Given the description of an element on the screen output the (x, y) to click on. 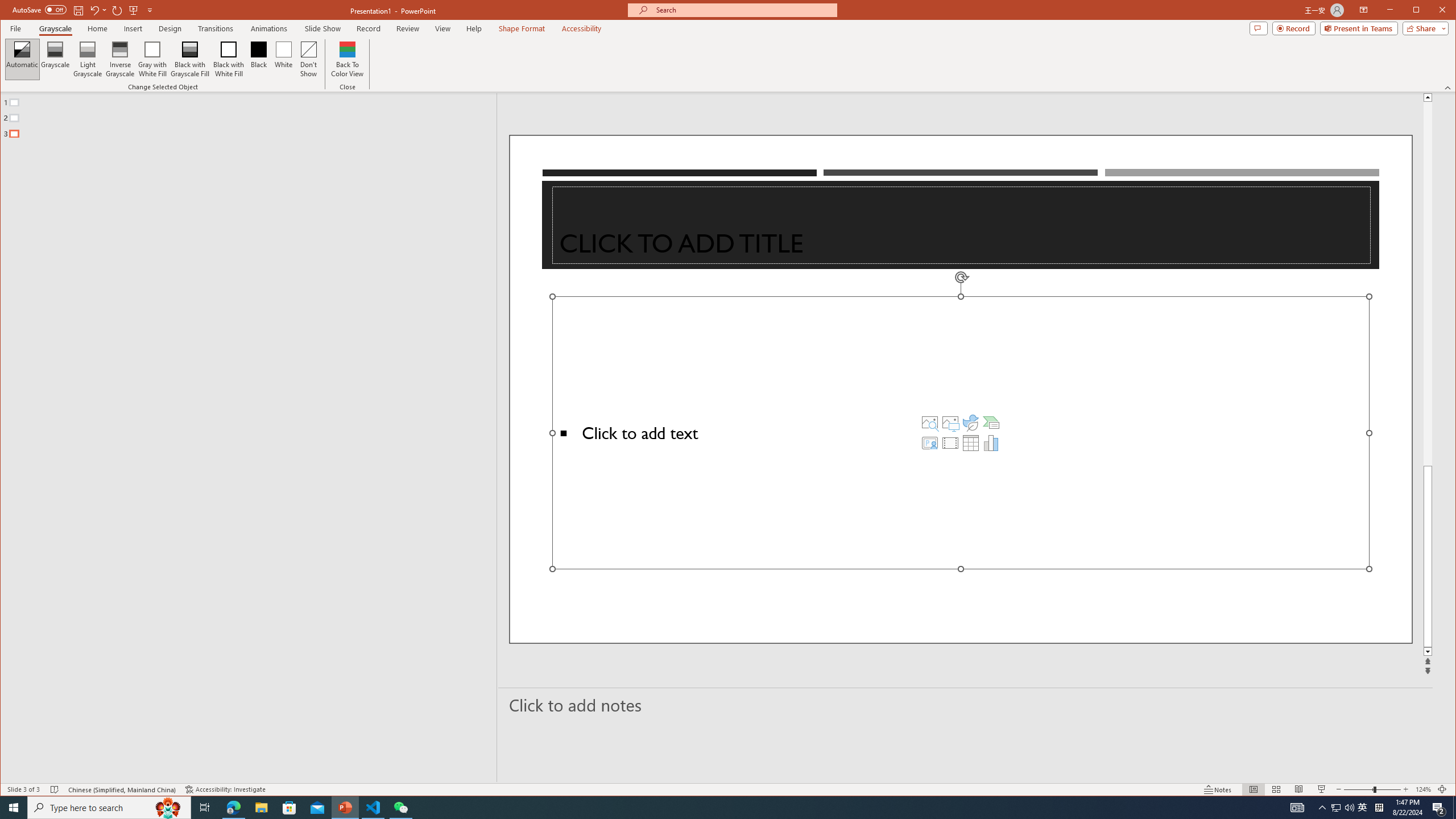
Back To Color View (347, 59)
Zoom 124% (1422, 789)
Gray with White Fill (152, 59)
Outline (252, 115)
Black with Grayscale Fill (189, 59)
